Given the description of an element on the screen output the (x, y) to click on. 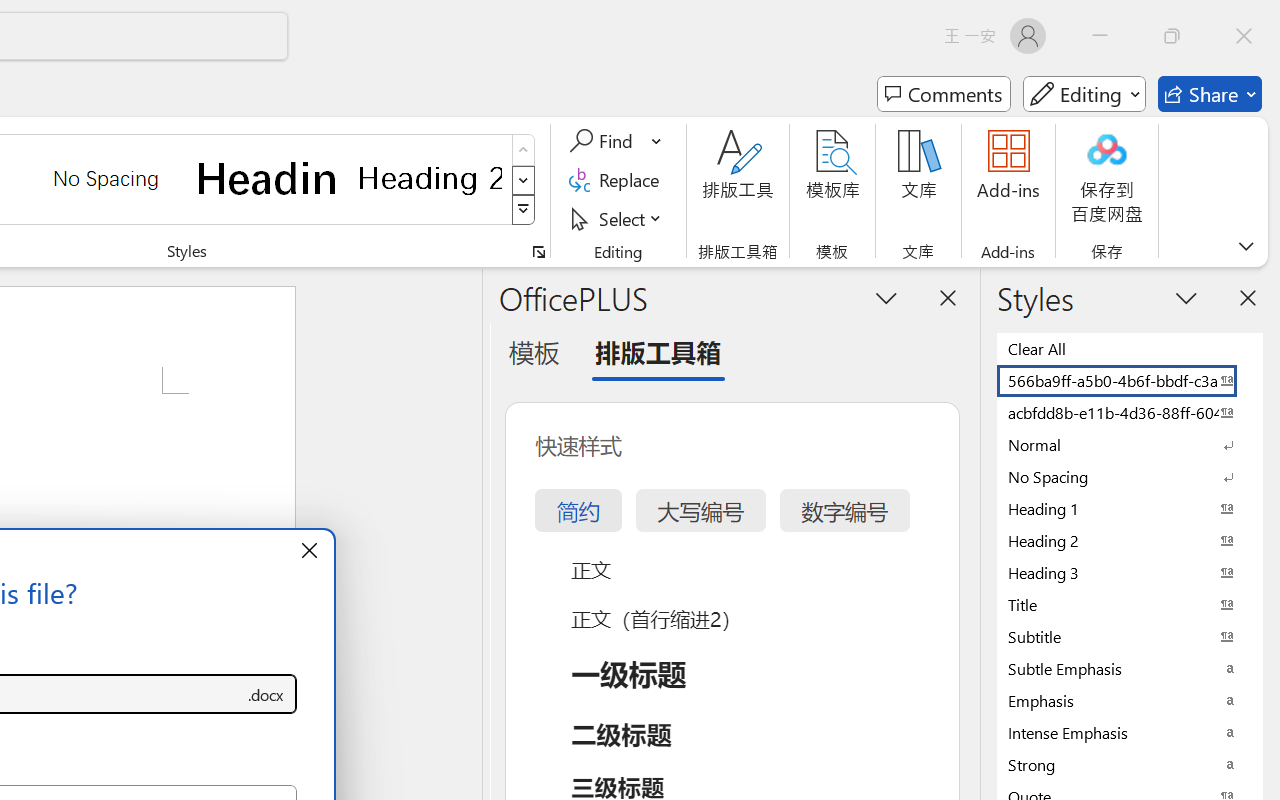
Title (1130, 604)
Class: NetUIImage (523, 210)
Intense Emphasis (1130, 732)
No Spacing (1130, 476)
Ribbon Display Options (1246, 245)
Close (1244, 36)
Task Pane Options (886, 297)
Styles (523, 209)
Share (1210, 94)
